Given the description of an element on the screen output the (x, y) to click on. 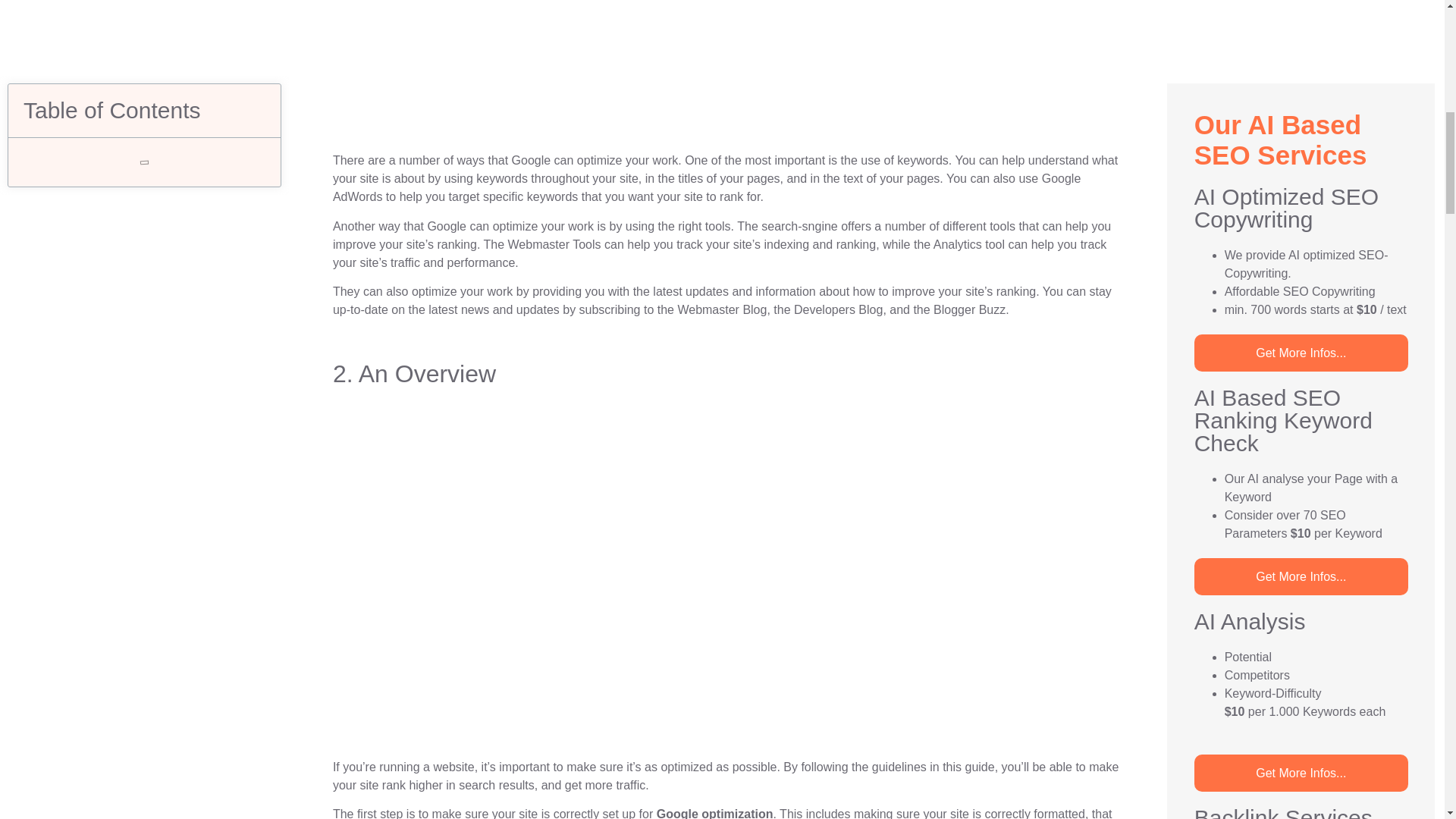
Get More Infos... (1300, 348)
Get More Infos... (1300, 151)
Get More Infos... (1300, 562)
Get More Infos... (1300, 809)
